Given the description of an element on the screen output the (x, y) to click on. 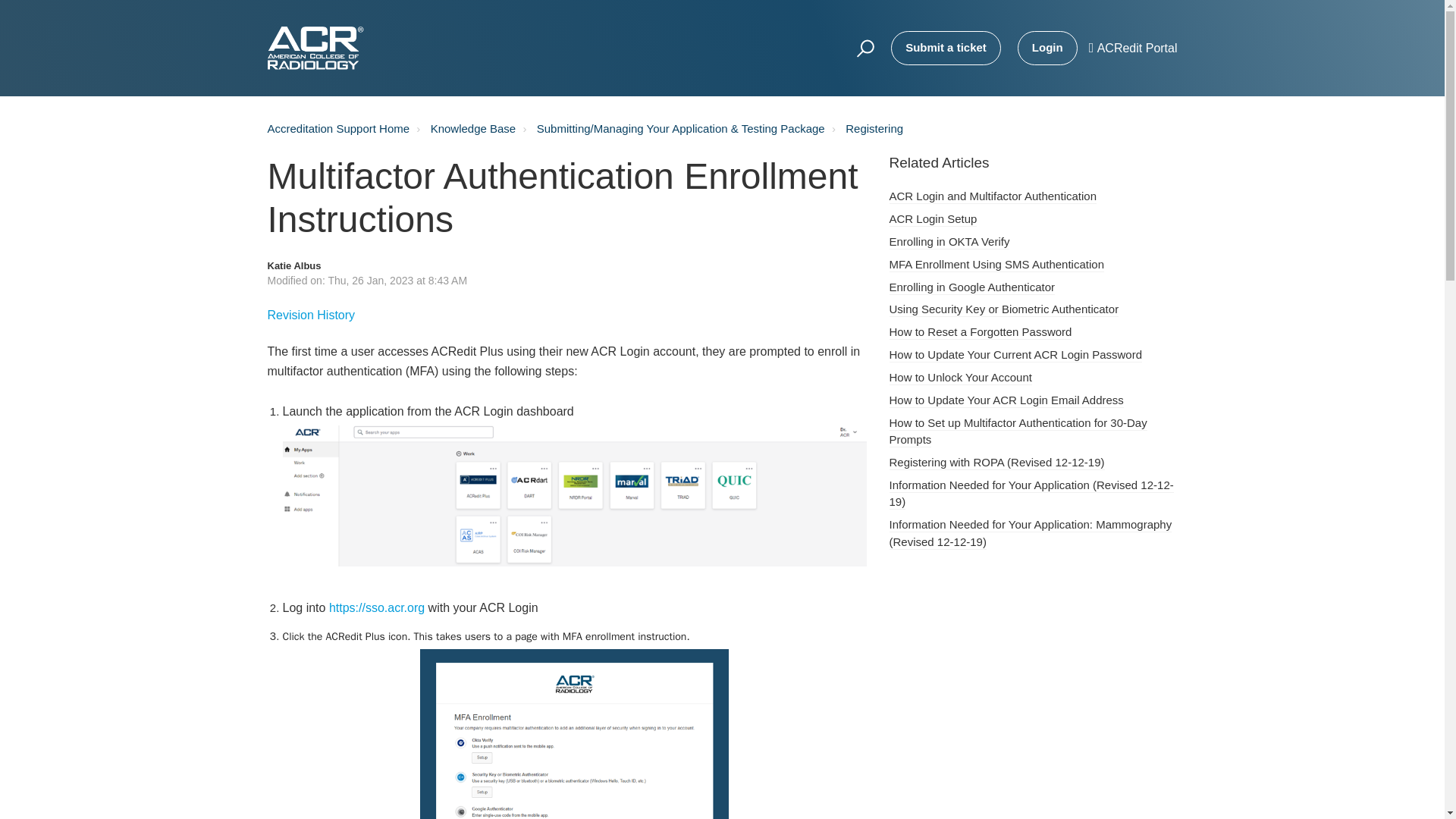
How to Reset a Forgotten Password (979, 332)
Enrolling in Google Authenticator (971, 287)
Submit a ticket (946, 48)
How to Set up Multifactor Authentication for 30-Day Prompts (1017, 431)
Solution home (463, 129)
Login (1047, 48)
How to Update Your Current ACR Login Password (1014, 355)
Using Security Key or Biometric Authenticator (1003, 309)
How to Update Your ACR Login Email Address (1005, 400)
MFA Enrollment Using SMS Authentication (995, 264)
Enrolling in OKTA Verify (948, 242)
ACR Login Setup (932, 219)
Registering (865, 129)
Knowledge Base (473, 128)
Registering (873, 128)
